Given the description of an element on the screen output the (x, y) to click on. 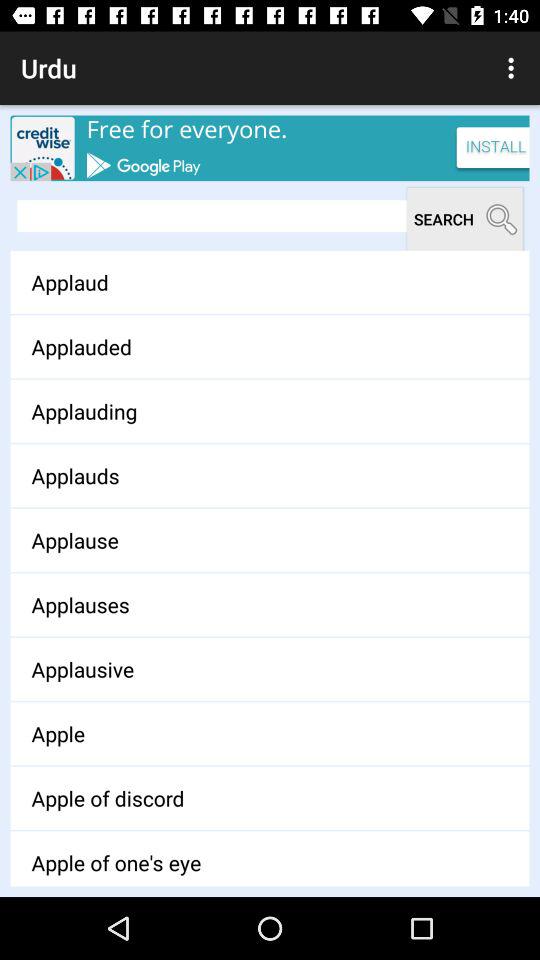
open advertisement (270, 148)
